Given the description of an element on the screen output the (x, y) to click on. 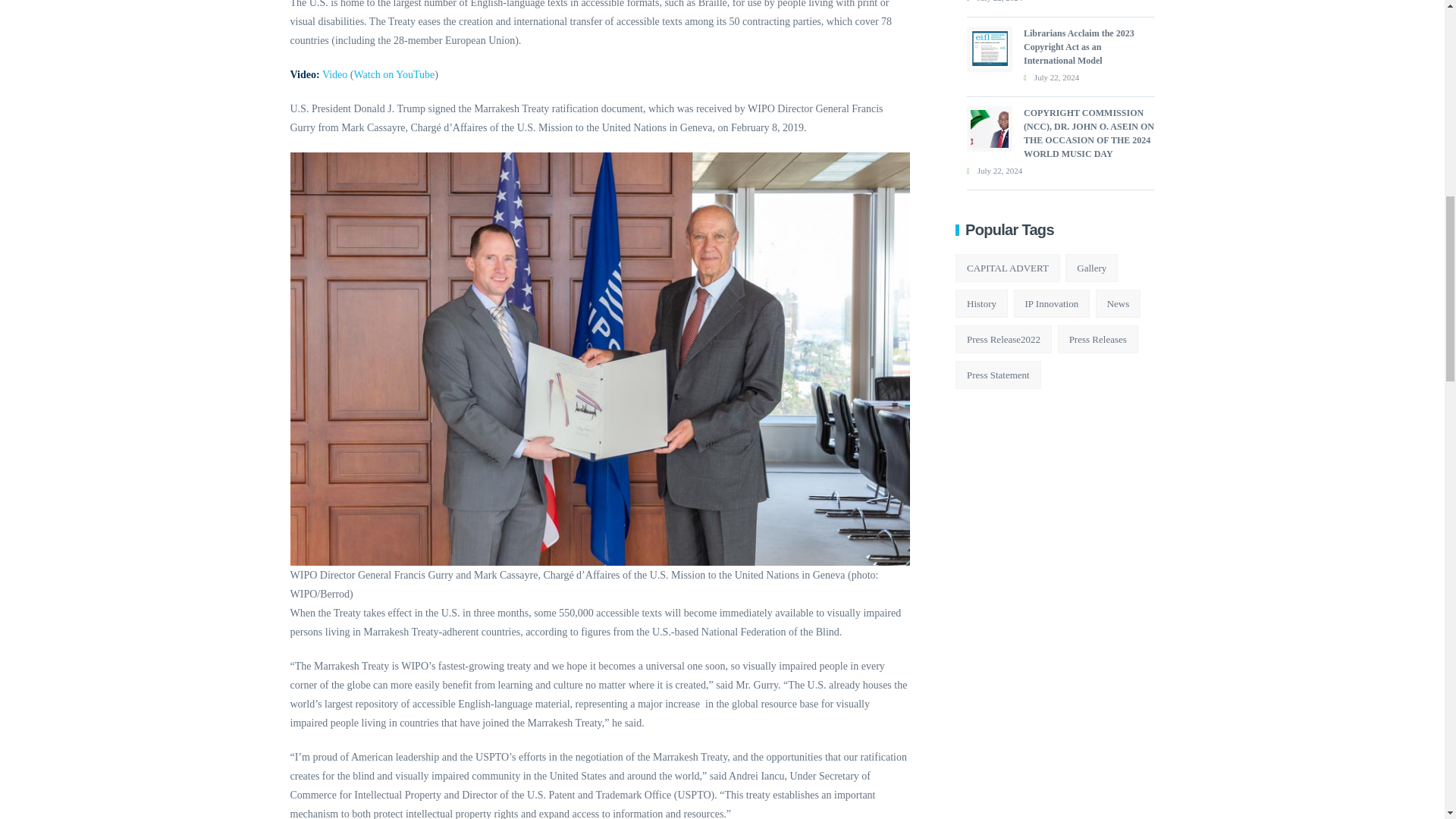
video (334, 74)
